Given the description of an element on the screen output the (x, y) to click on. 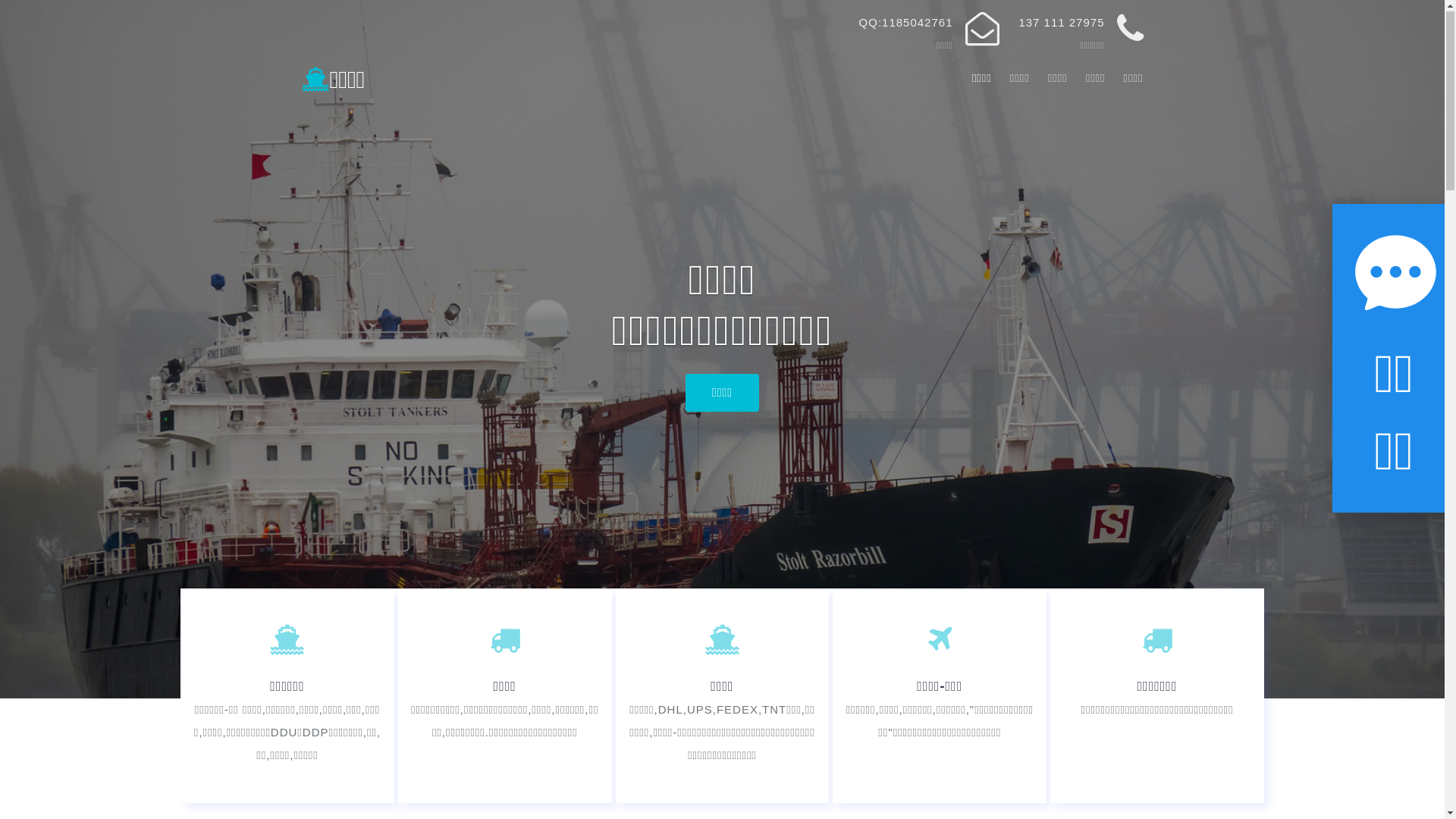
QQ:1185042761 Element type: text (906, 22)
